Given the description of an element on the screen output the (x, y) to click on. 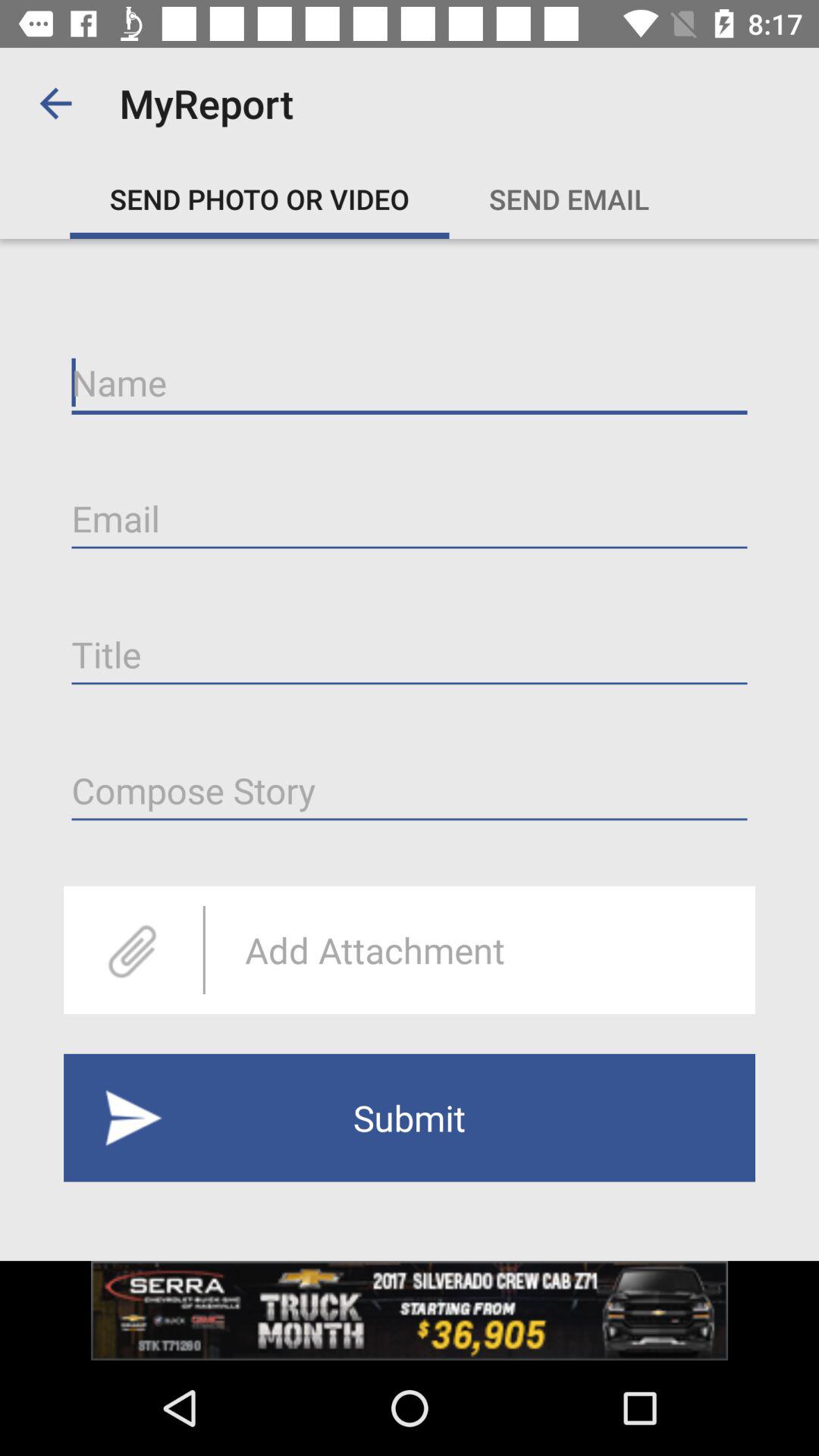
go to advertisement website (409, 1310)
